Given the description of an element on the screen output the (x, y) to click on. 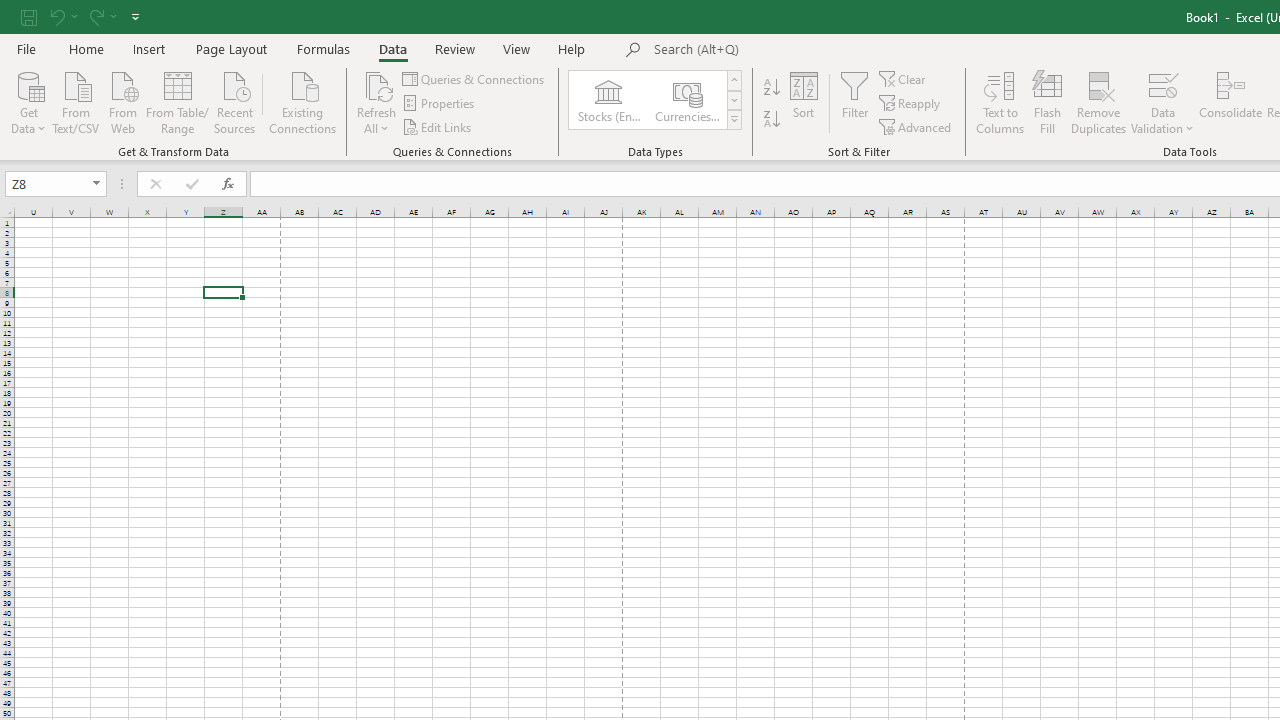
Reapply (911, 103)
Formulas (323, 48)
Data Types (734, 120)
From Table/Range (177, 101)
Review (454, 48)
Existing Connections (303, 101)
Clear (903, 78)
Quick Access Toolbar (82, 16)
Filter (854, 102)
